Given the description of an element on the screen output the (x, y) to click on. 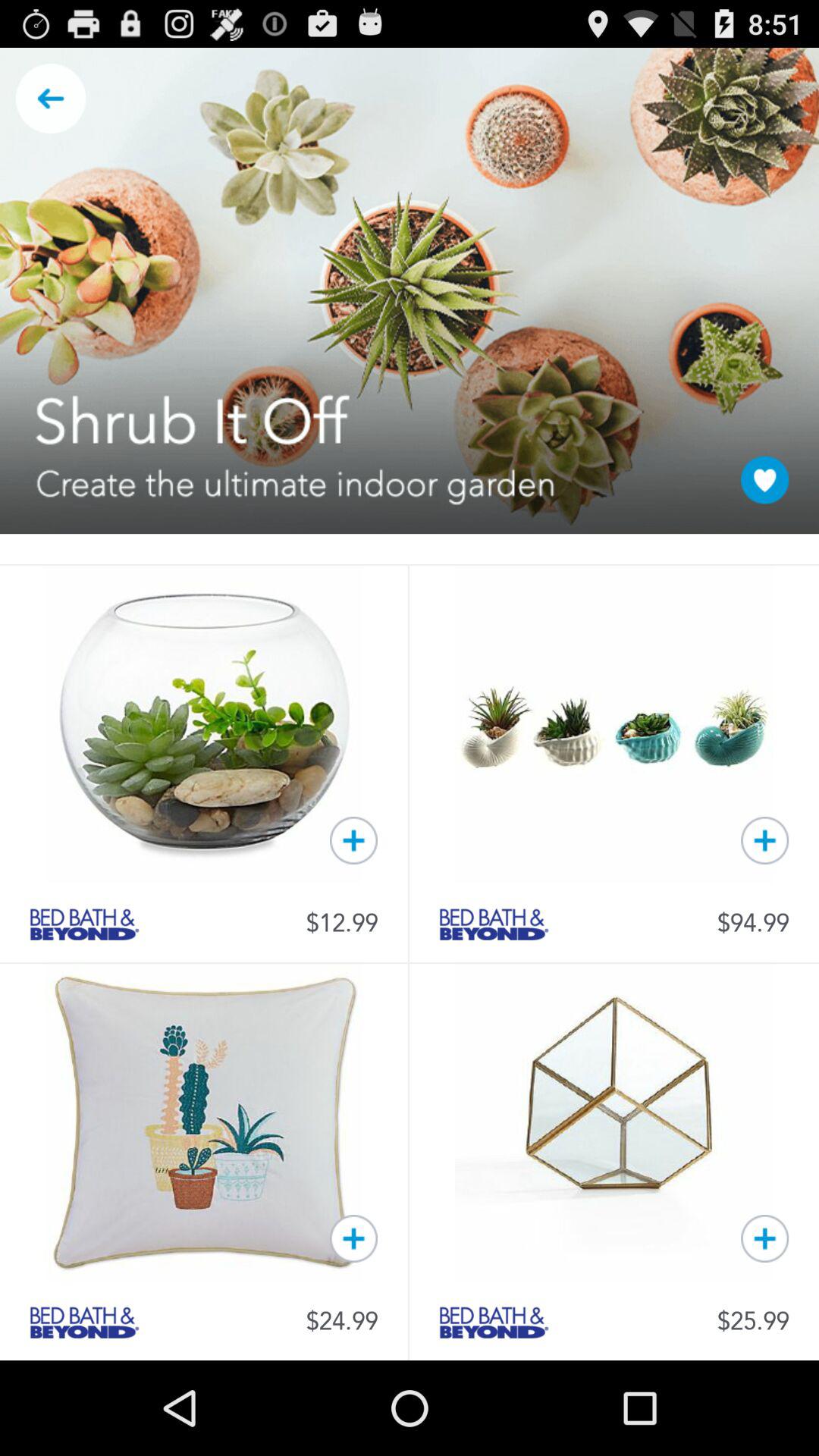
click to bed baths beyond option (493, 924)
